Given the description of an element on the screen output the (x, y) to click on. 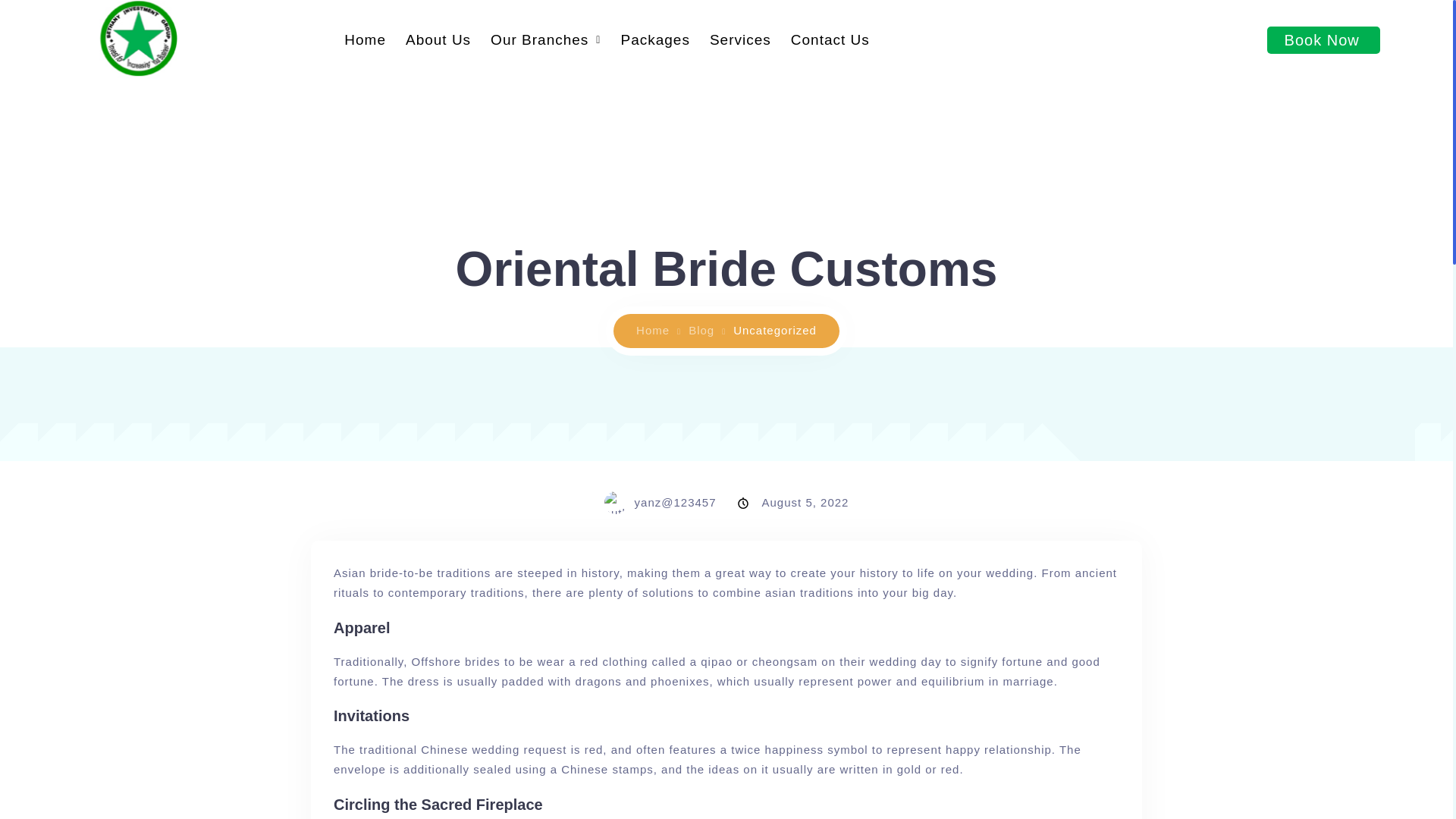
Blog (706, 329)
Home (658, 329)
Book Now (1323, 39)
Uncategorized (774, 329)
Our Branches (545, 39)
Packages (654, 39)
Bethany (658, 329)
About Us (438, 39)
Home (365, 39)
Services (740, 39)
Contact Us (829, 39)
